Given the description of an element on the screen output the (x, y) to click on. 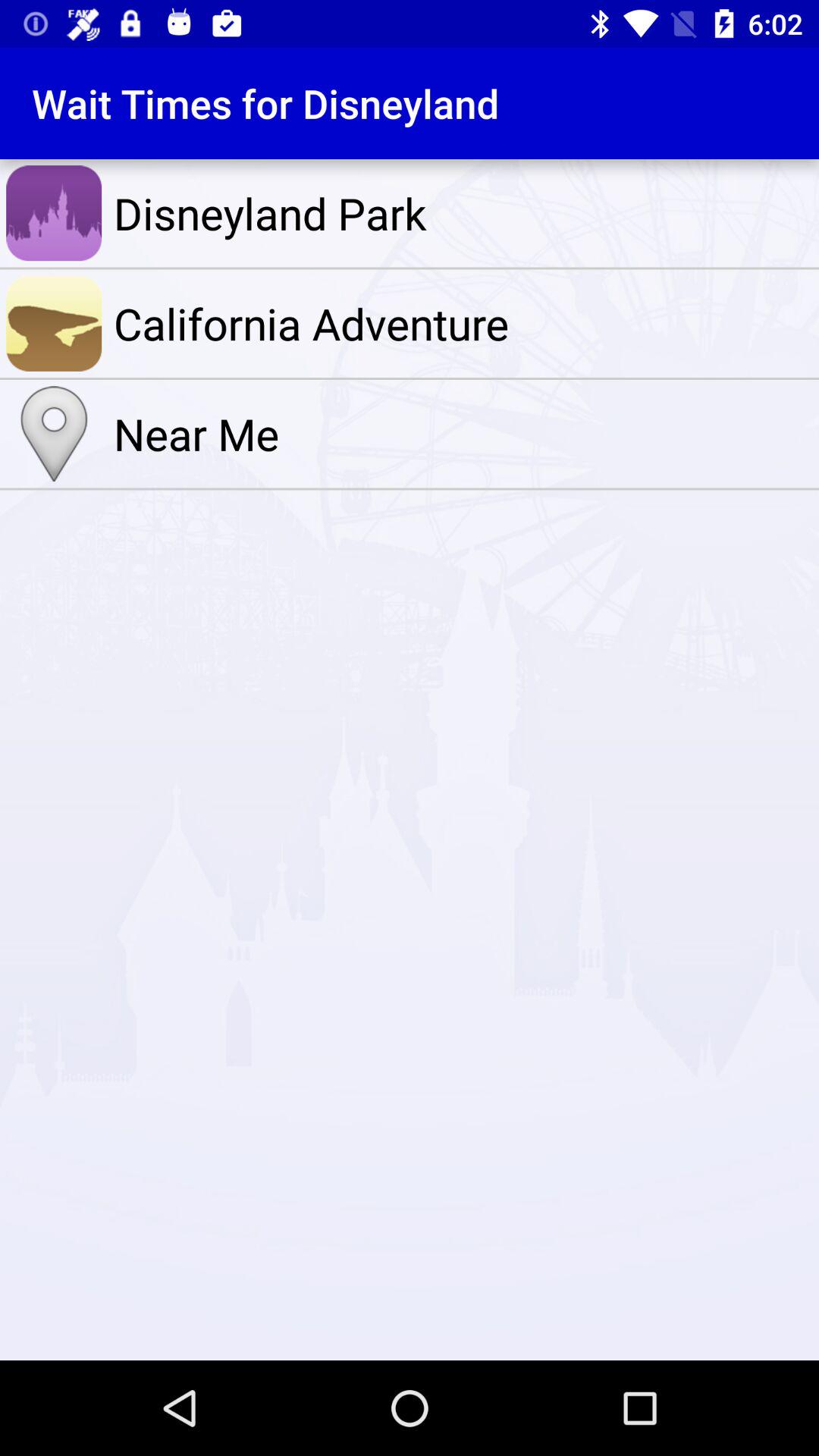
tap icon above california adventure item (462, 213)
